Given the description of an element on the screen output the (x, y) to click on. 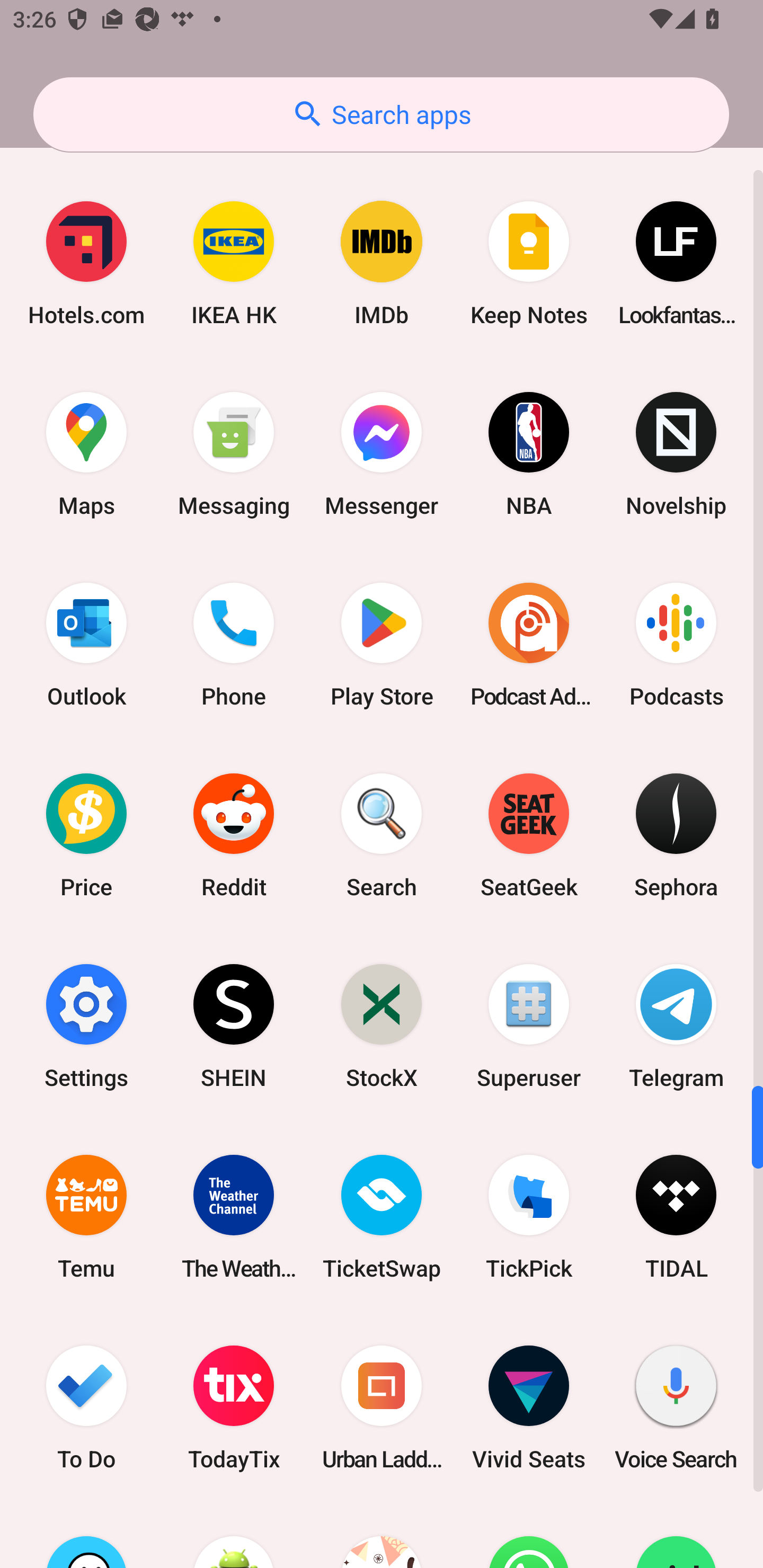
To Do (86, 1407)
